Given the description of an element on the screen output the (x, y) to click on. 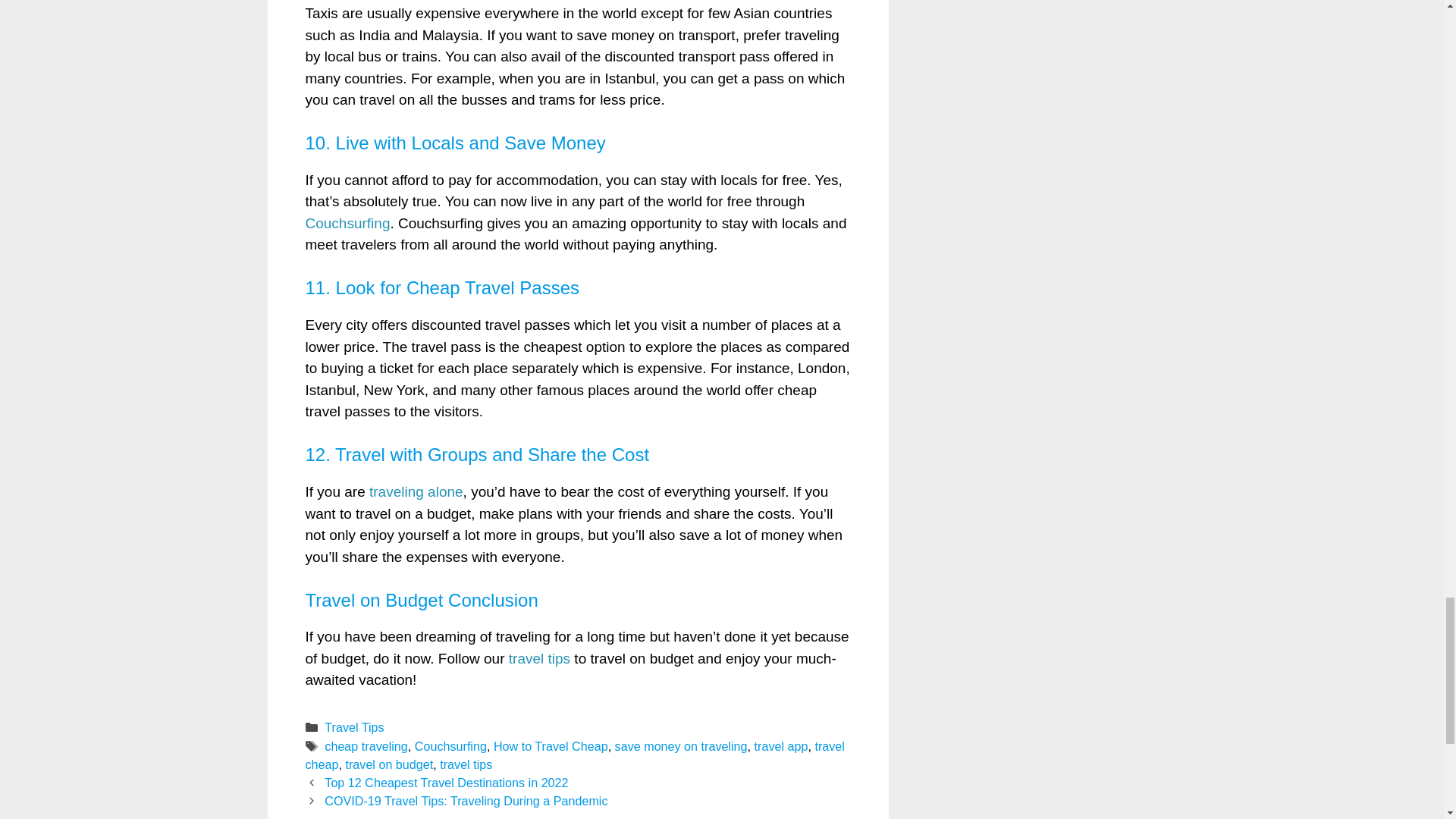
save money on traveling (681, 745)
Couchsurfing (347, 222)
cheap traveling (365, 745)
travel cheap (574, 755)
How to Travel Cheap (550, 745)
COVID-19 Travel Tips: Traveling During a Pandemic (465, 800)
travel tips (539, 658)
Couchsurfing (450, 745)
travel app (781, 745)
travel tips (465, 764)
